Given the description of an element on the screen output the (x, y) to click on. 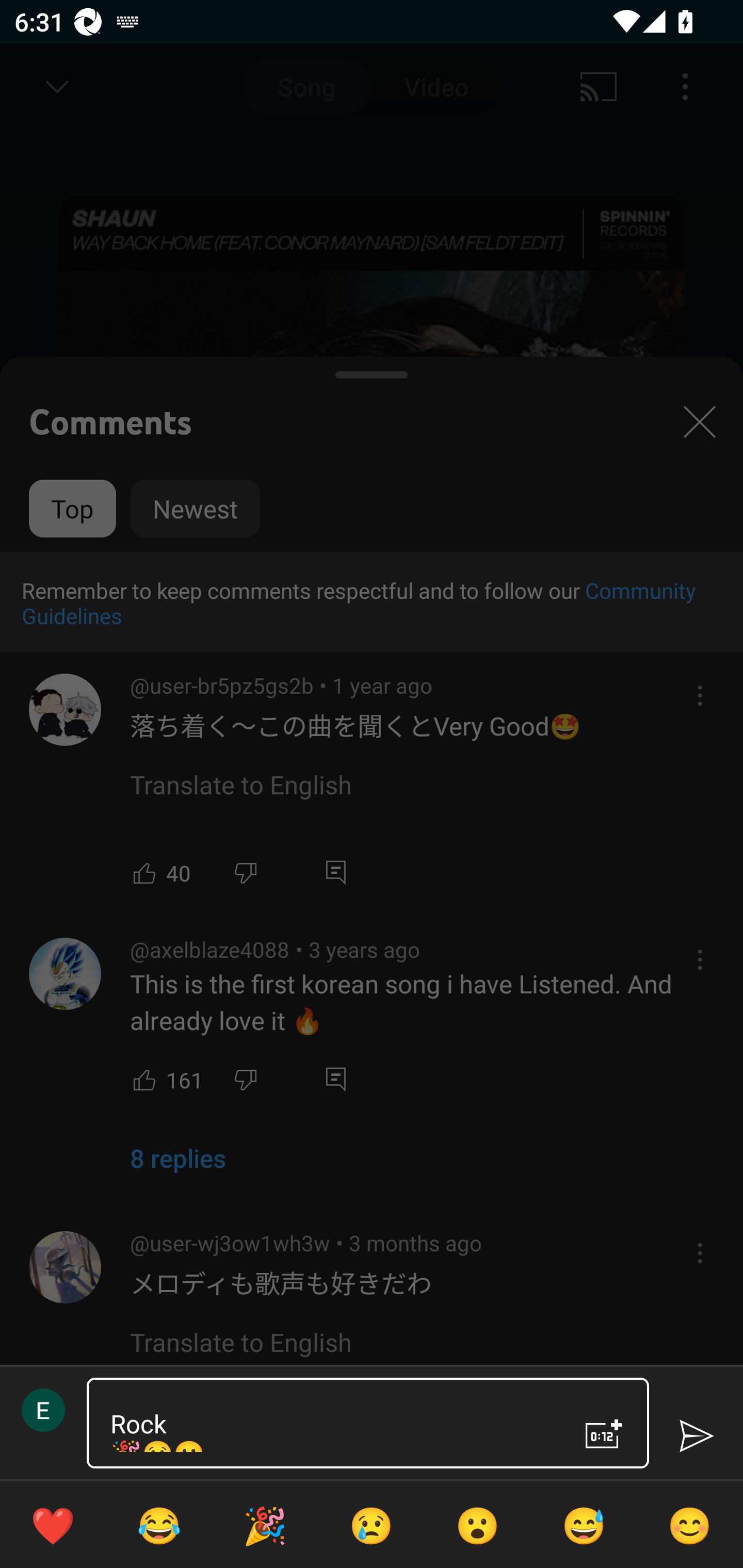
Rock
🎉😢😮 (329, 1422)
Add a timestamp (603, 1433)
Send comment (695, 1436)
❤ (53, 1524)
😂 (158, 1524)
🎉 (264, 1524)
😢 (371, 1524)
😮 (477, 1524)
😅 (583, 1524)
😊 (689, 1524)
